Given the description of an element on the screen output the (x, y) to click on. 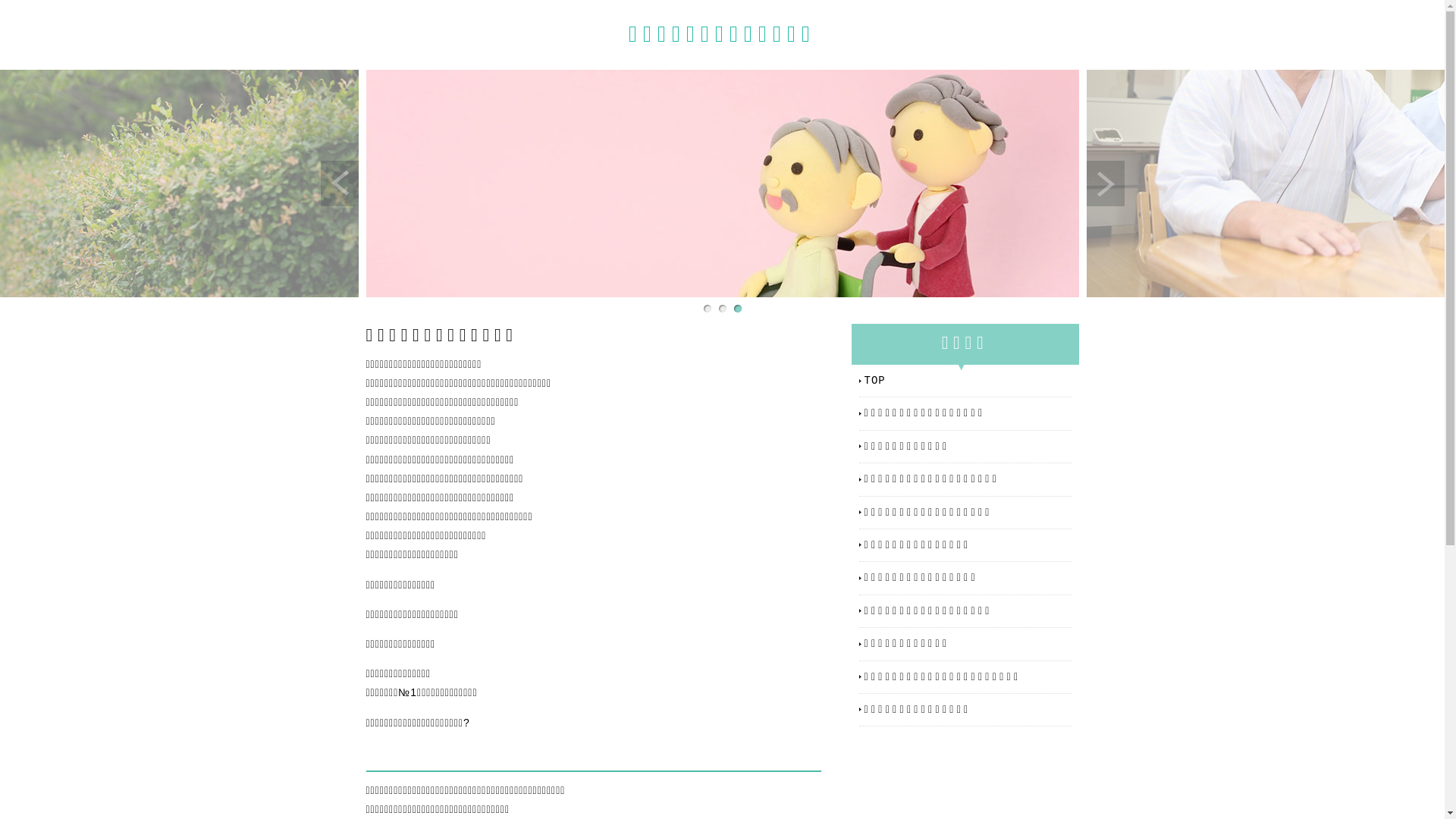
TOP Element type: text (967, 380)
